Given the description of an element on the screen output the (x, y) to click on. 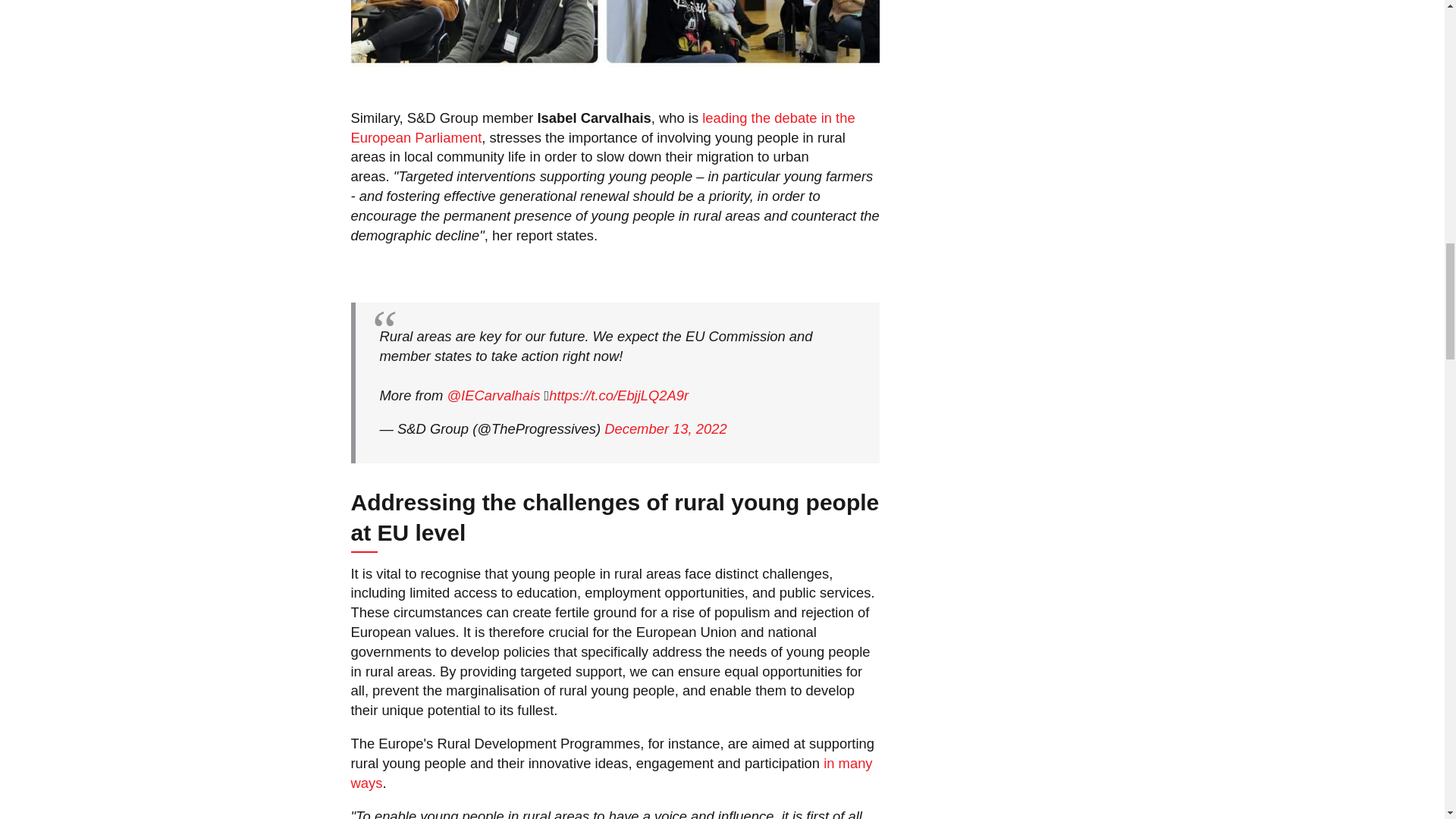
leading the debate in the European Parliament (602, 127)
